Given the description of an element on the screen output the (x, y) to click on. 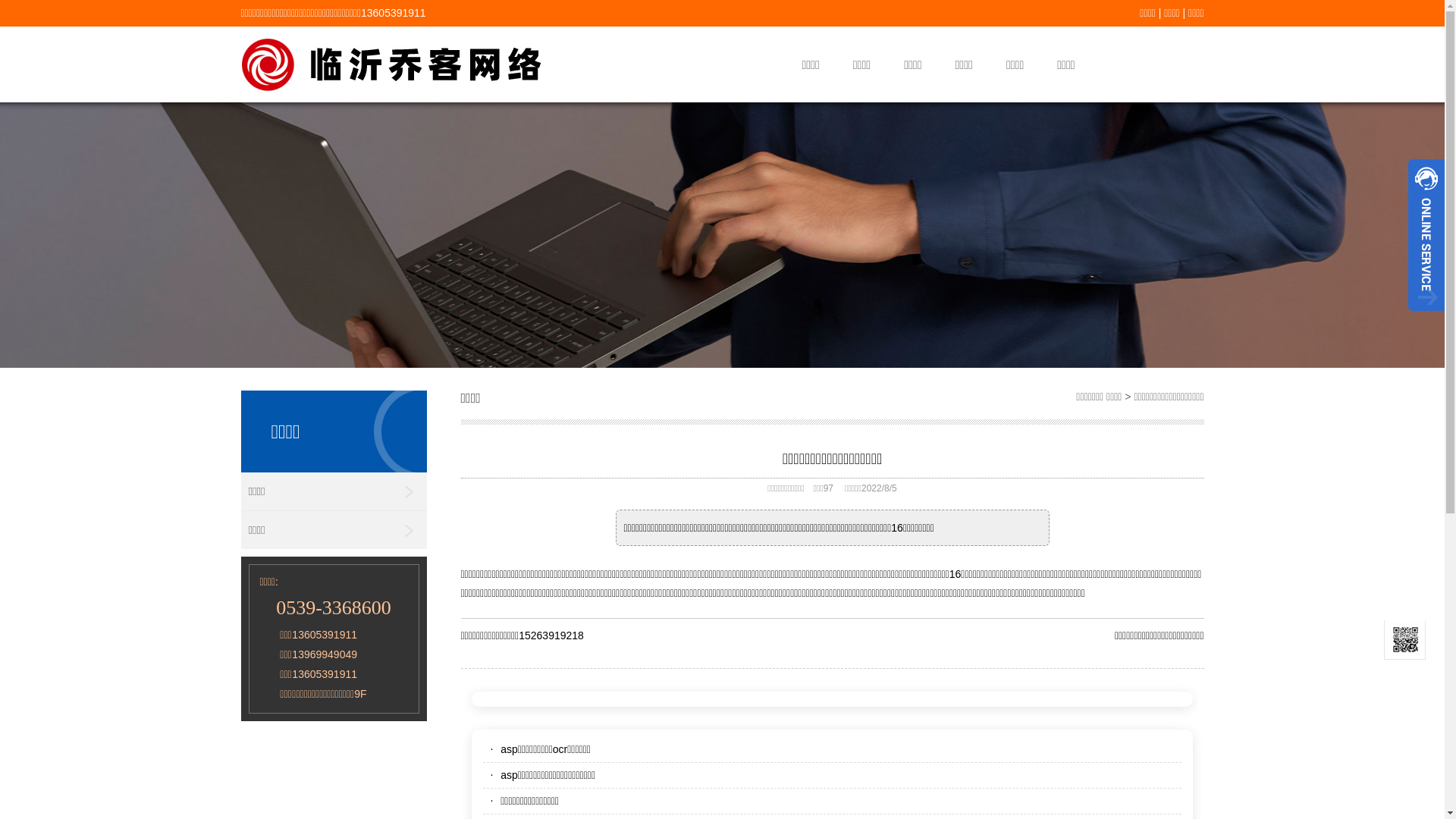
  Element type: text (1426, 316)
Close Element type: hover (1426, 316)
  Element type: text (1426, 234)
Open Element type: hover (1426, 234)
